Given the description of an element on the screen output the (x, y) to click on. 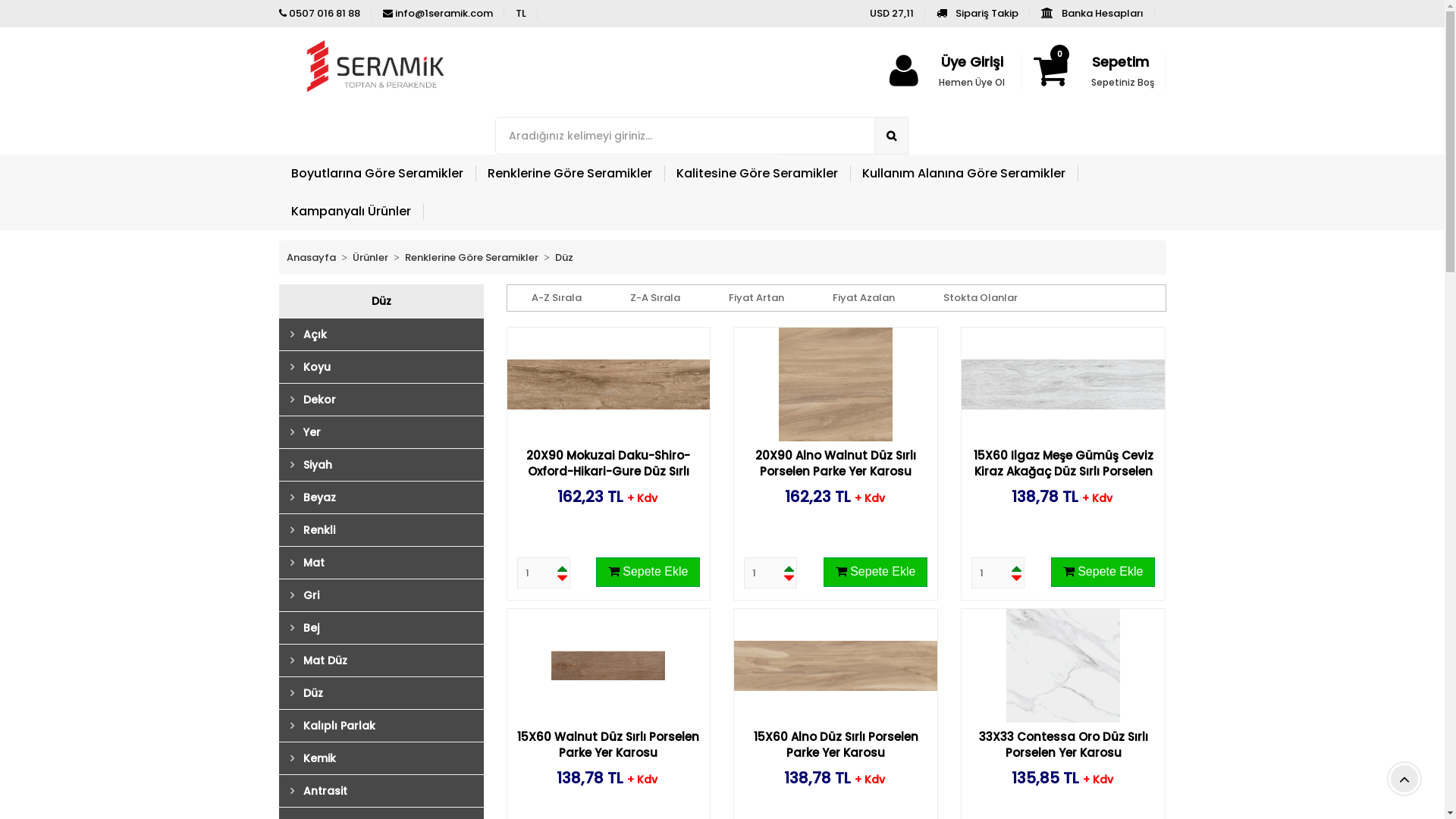
info@1seramik.com Element type: text (437, 13)
Anasayfa Element type: text (310, 257)
Koyu Element type: text (391, 366)
Fiyat Artan Element type: text (755, 297)
Bej Element type: text (391, 627)
Yer Element type: text (391, 432)
Mat Element type: text (391, 562)
Stokta Olanlar Element type: text (980, 297)
Antrasit Element type: text (391, 790)
Sepete Ekle Element type: text (648, 571)
Renkli Element type: text (391, 529)
Siyah Element type: text (391, 464)
USD 27,11 Element type: text (891, 13)
0507 016 81 88 Element type: text (319, 13)
Kemik Element type: text (391, 758)
Dekor Element type: text (391, 399)
Sepete Ekle Element type: text (875, 571)
Gri Element type: text (391, 595)
TL Element type: text (520, 13)
Sepete Ekle Element type: text (1103, 571)
Beyaz Element type: text (391, 497)
Fiyat Azalan Element type: text (863, 297)
